Given the description of an element on the screen output the (x, y) to click on. 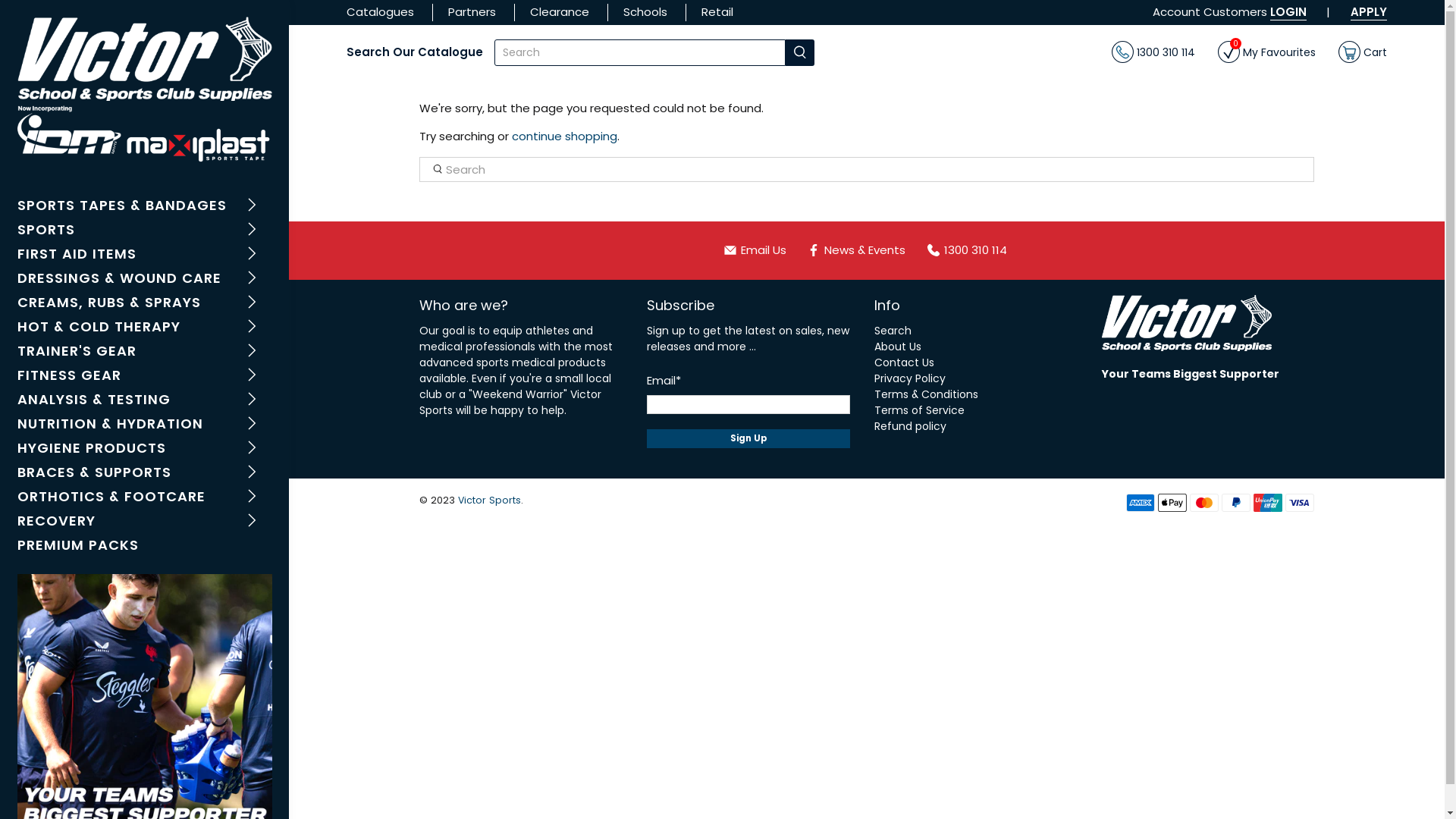
Email Us Element type: text (760, 250)
ORTHOTICS & FOOTCARE Element type: text (143, 498)
APPLY Element type: text (1368, 11)
RECOVERY Element type: text (143, 522)
Schools Element type: text (645, 11)
Privacy Policy Element type: text (909, 377)
1300 310 114 Element type: text (963, 250)
Search Element type: text (892, 330)
DRESSINGS & WOUND CARE Element type: text (143, 279)
Sign Up Element type: text (748, 438)
Victor Sports Element type: hover (1186, 330)
Partners Element type: text (471, 11)
FITNESS GEAR Element type: text (143, 376)
Catalogues Element type: text (380, 11)
Contact Us Element type: text (904, 362)
Terms of Service Element type: text (919, 409)
Retail Element type: text (717, 11)
BRACES & SUPPORTS Element type: text (143, 473)
FIRST AID ITEMS Element type: text (143, 255)
SPORTS TAPES & BANDAGES Element type: text (143, 206)
1300 310 114 Element type: text (1153, 52)
TRAINER'S GEAR Element type: text (143, 352)
HOT & COLD THERAPY Element type: text (143, 328)
PREMIUM PACKS Element type: text (143, 546)
HYGIENE PRODUCTS Element type: text (143, 449)
Victor Sports Element type: hover (143, 91)
CREAMS, RUBS & SPRAYS Element type: text (143, 303)
NUTRITION & HYDRATION Element type: text (143, 425)
SPORTS Element type: text (143, 231)
News & Events Element type: text (858, 250)
Terms & Conditions Element type: text (926, 393)
About Us Element type: text (897, 346)
My Favourites
0 Element type: text (1266, 52)
LOGIN Element type: text (1288, 11)
Refund policy Element type: text (910, 425)
Cart Element type: text (1362, 52)
ANALYSIS & TESTING Element type: text (143, 401)
Clearance Element type: text (559, 11)
Victor Sports Element type: text (489, 499)
continue shopping Element type: text (564, 136)
